Given the description of an element on the screen output the (x, y) to click on. 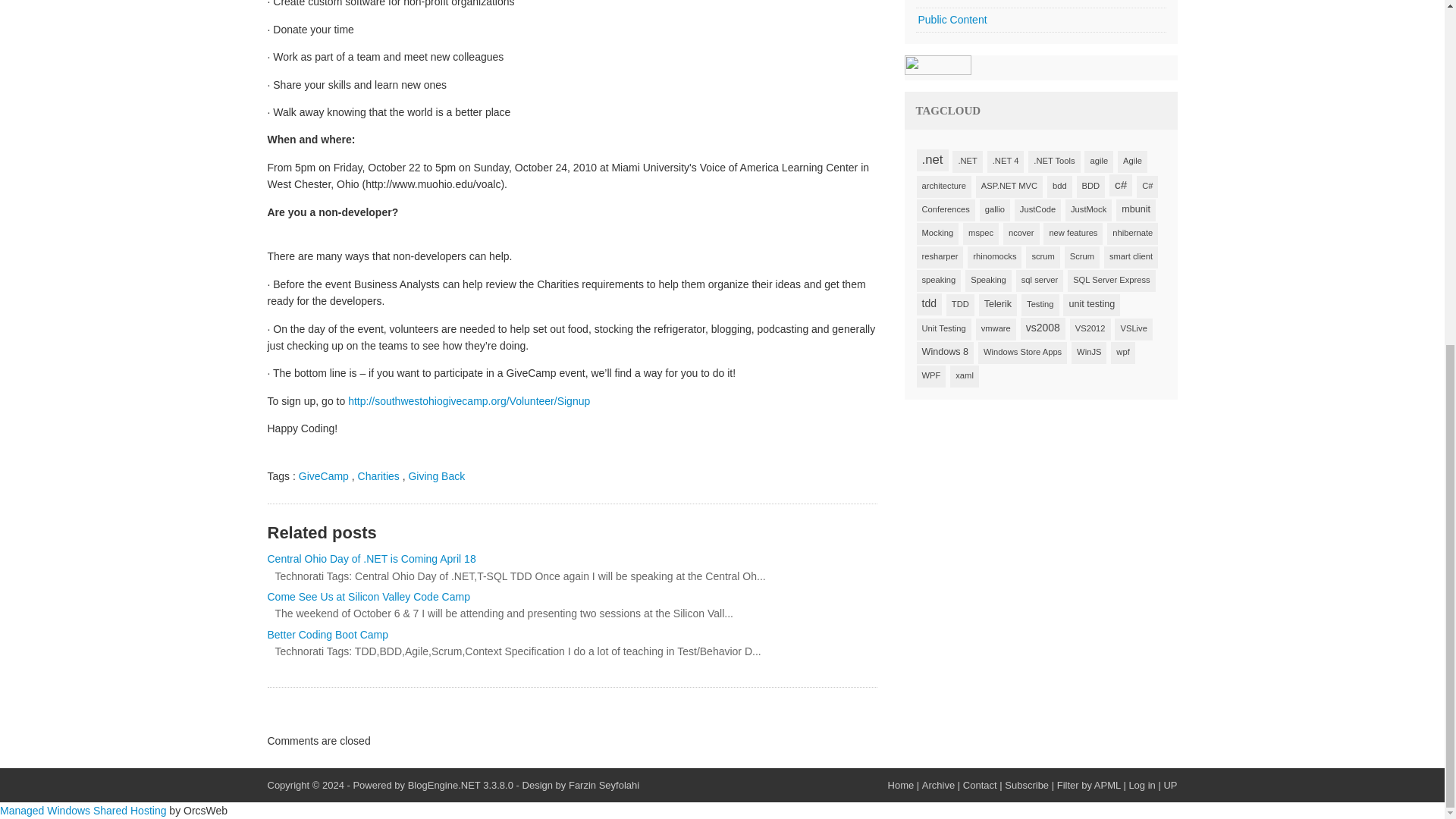
Charities (378, 476)
Abstracts (1040, 3)
.NET Tools (1053, 161)
Better Coding Boot Camp (571, 634)
.NET 4 (1006, 161)
Public Content (1040, 19)
Central Ohio Day of .NET is Coming April 18 (571, 558)
.NET (966, 161)
Giving Back (435, 476)
GiveCamp (323, 476)
